Given the description of an element on the screen output the (x, y) to click on. 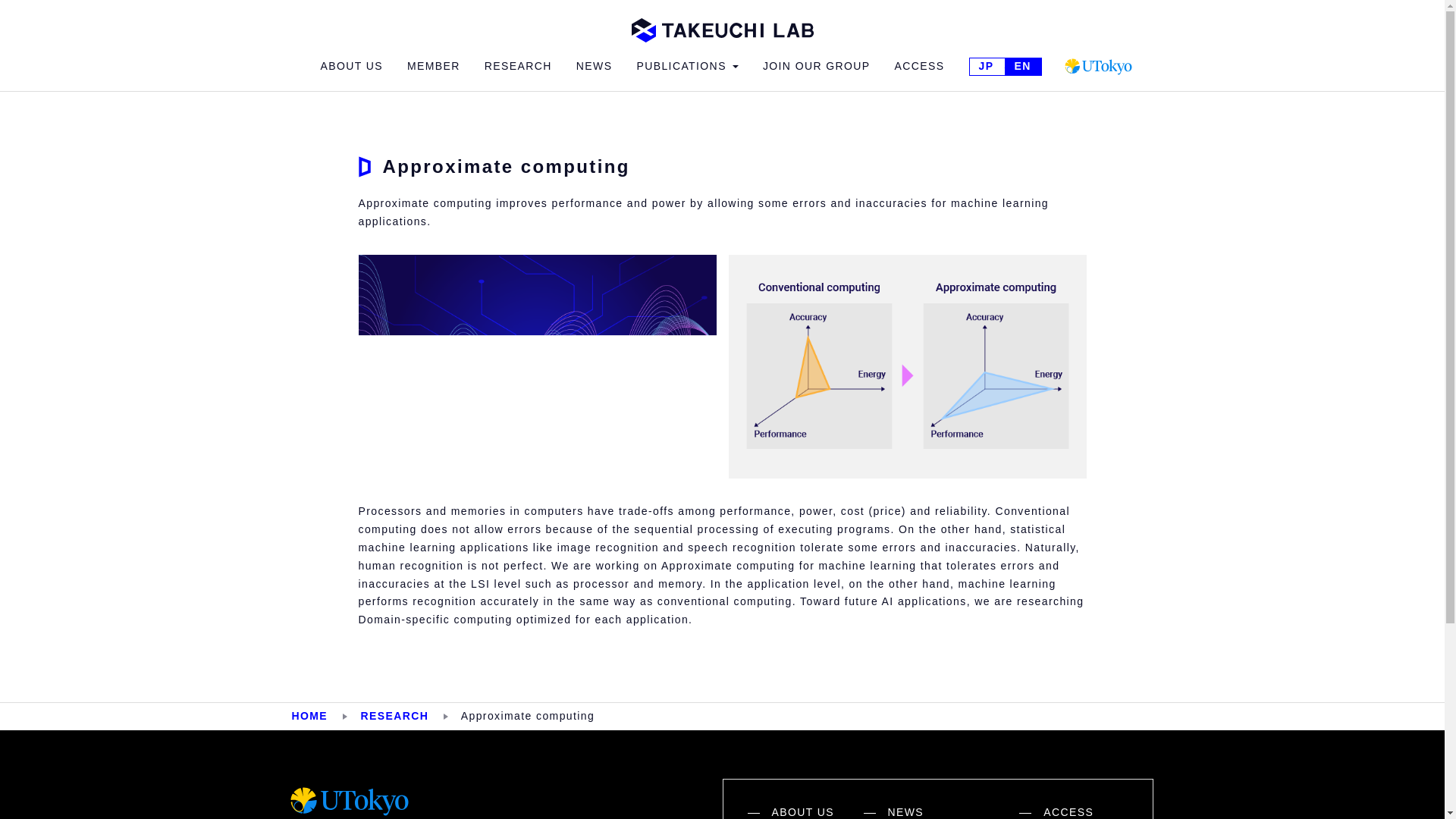
JOIN OUR GROUP (816, 66)
ABOUT US (351, 66)
NEWS (940, 811)
ACCESS (919, 66)
RESEARCH (393, 715)
Japanese (986, 66)
MEMBER (433, 66)
RESEARCH (517, 66)
ACCESS (1068, 811)
HOME (309, 715)
